Given the description of an element on the screen output the (x, y) to click on. 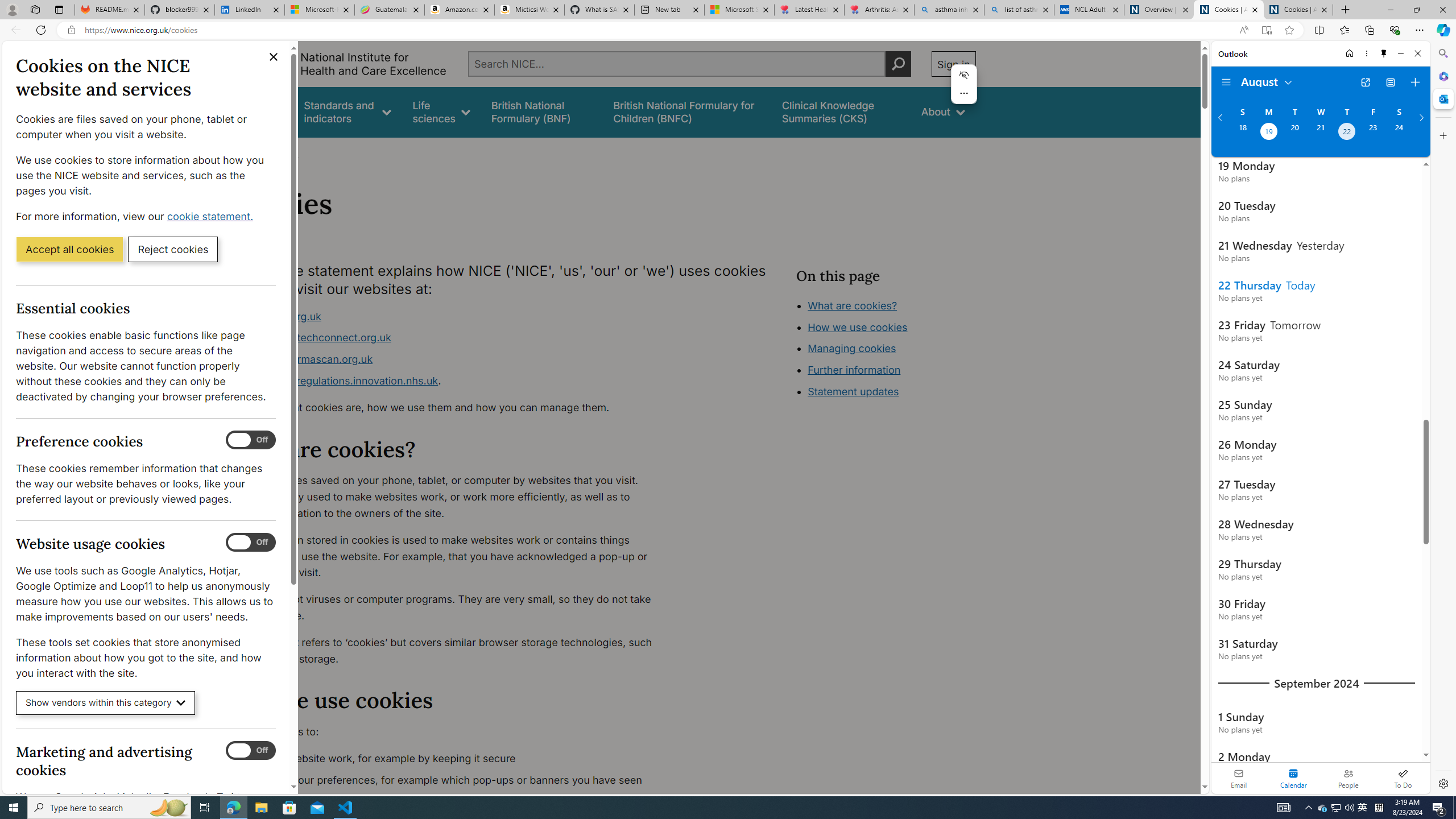
asthma inhaler - Search (949, 9)
August (1267, 80)
www.ukpharmascan.org.uk (305, 359)
Accept all cookies (69, 248)
www.digitalregulations.innovation.nhs.uk (338, 380)
Tuesday, August 20, 2024.  (1294, 132)
British National Formulary for Children (BNFC) (686, 111)
Selected calendar module. Date today is 22 (1293, 777)
